Given the description of an element on the screen output the (x, y) to click on. 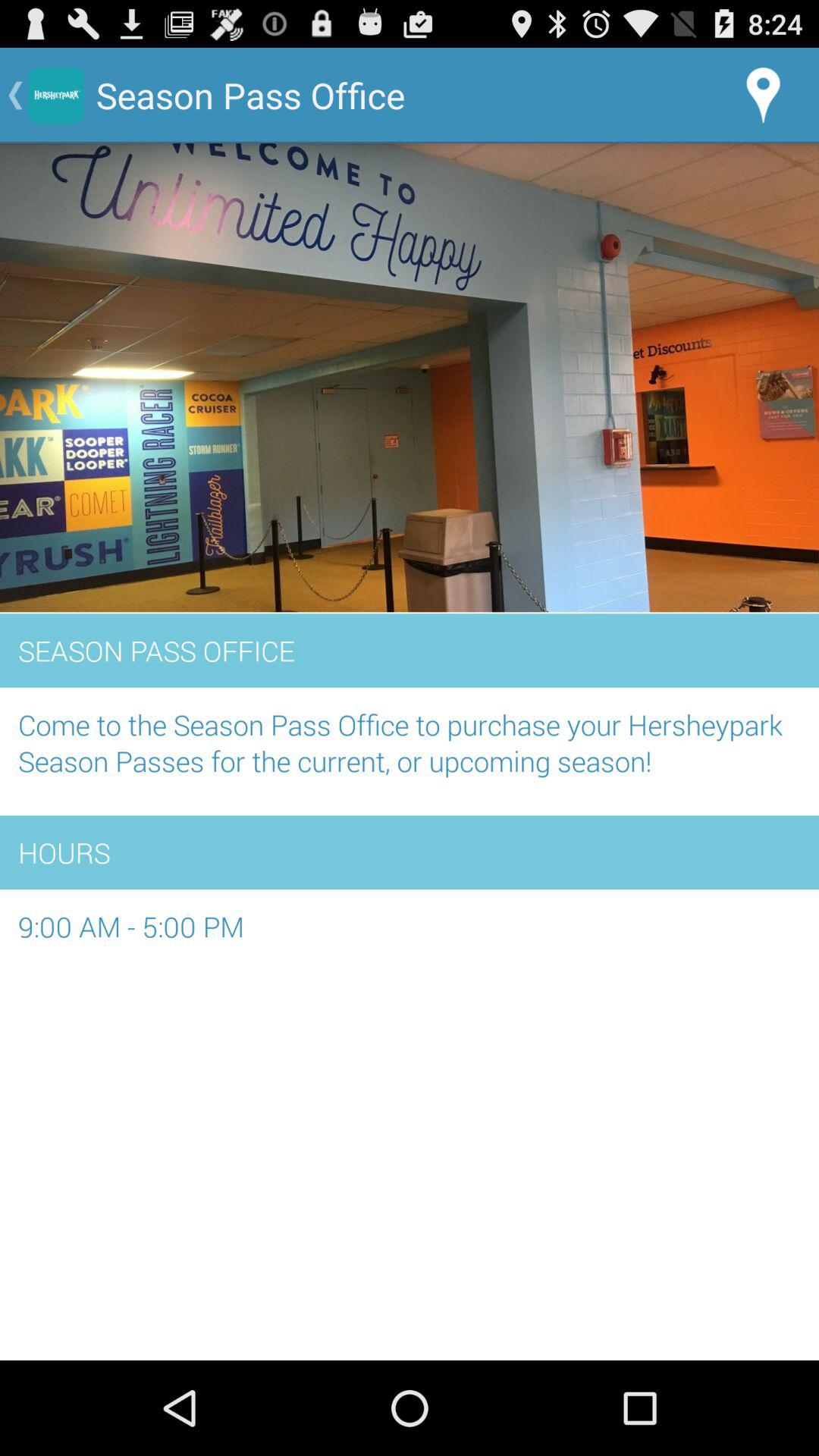
flip until 9 00 am app (409, 935)
